Given the description of an element on the screen output the (x, y) to click on. 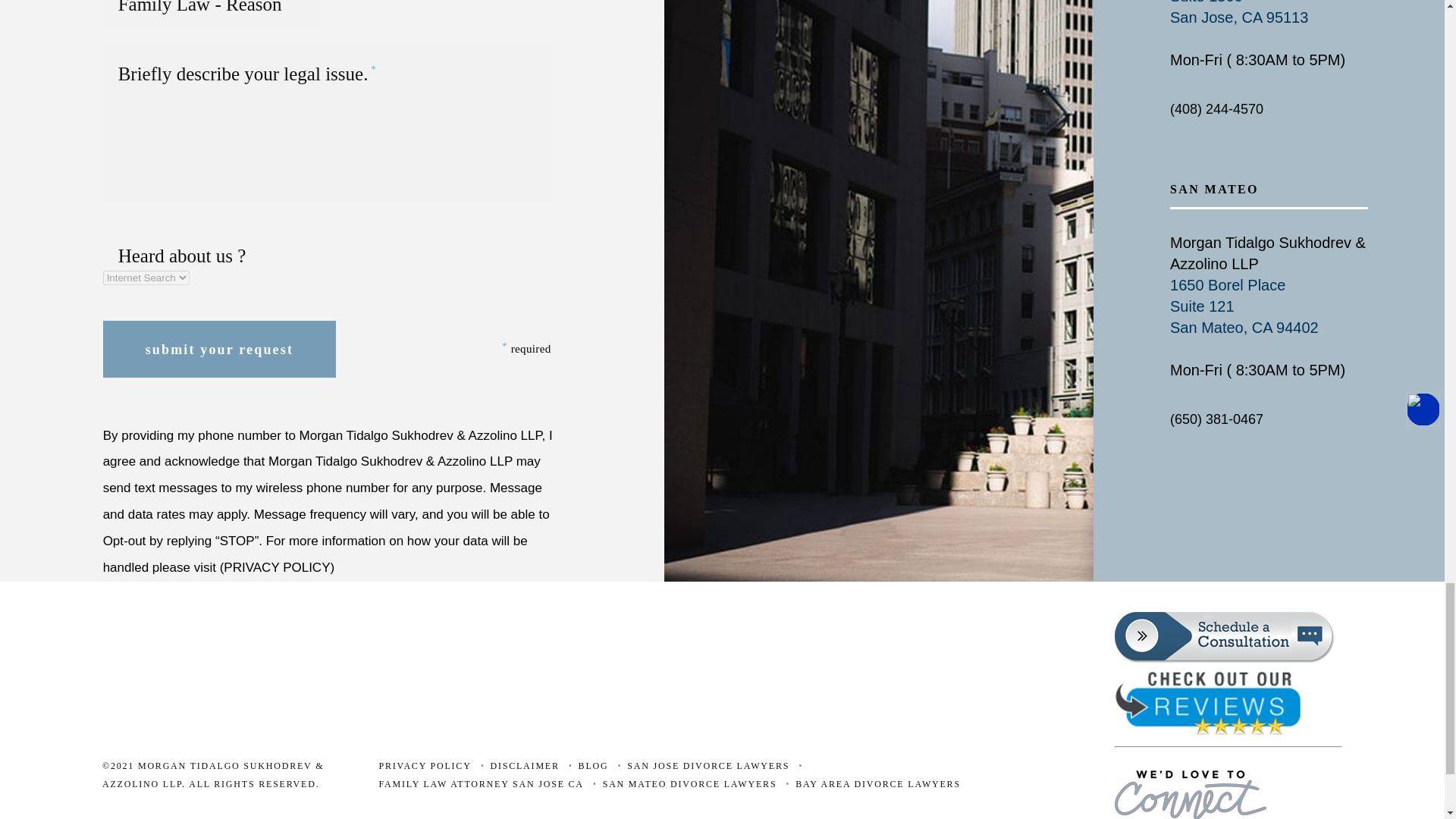
San Mateo Divorce Lawyers (682, 783)
Family Law Attorney San Jose CA (472, 783)
Submit your request (219, 349)
San Jose Divorce Lawyers (700, 765)
Bay Area Divorce Lawyers (870, 783)
